Given the description of an element on the screen output the (x, y) to click on. 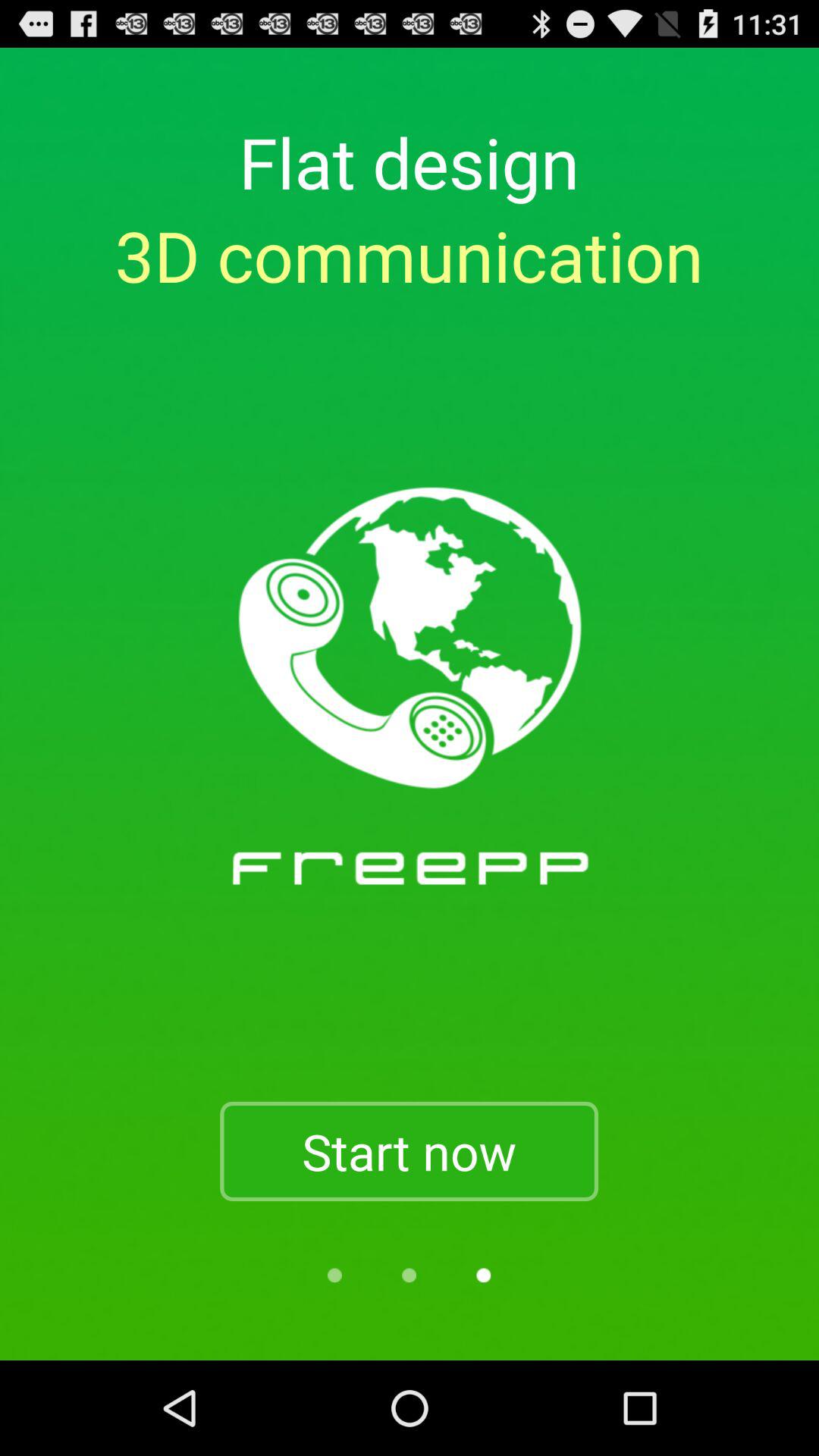
previous slide (408, 1275)
